Given the description of an element on the screen output the (x, y) to click on. 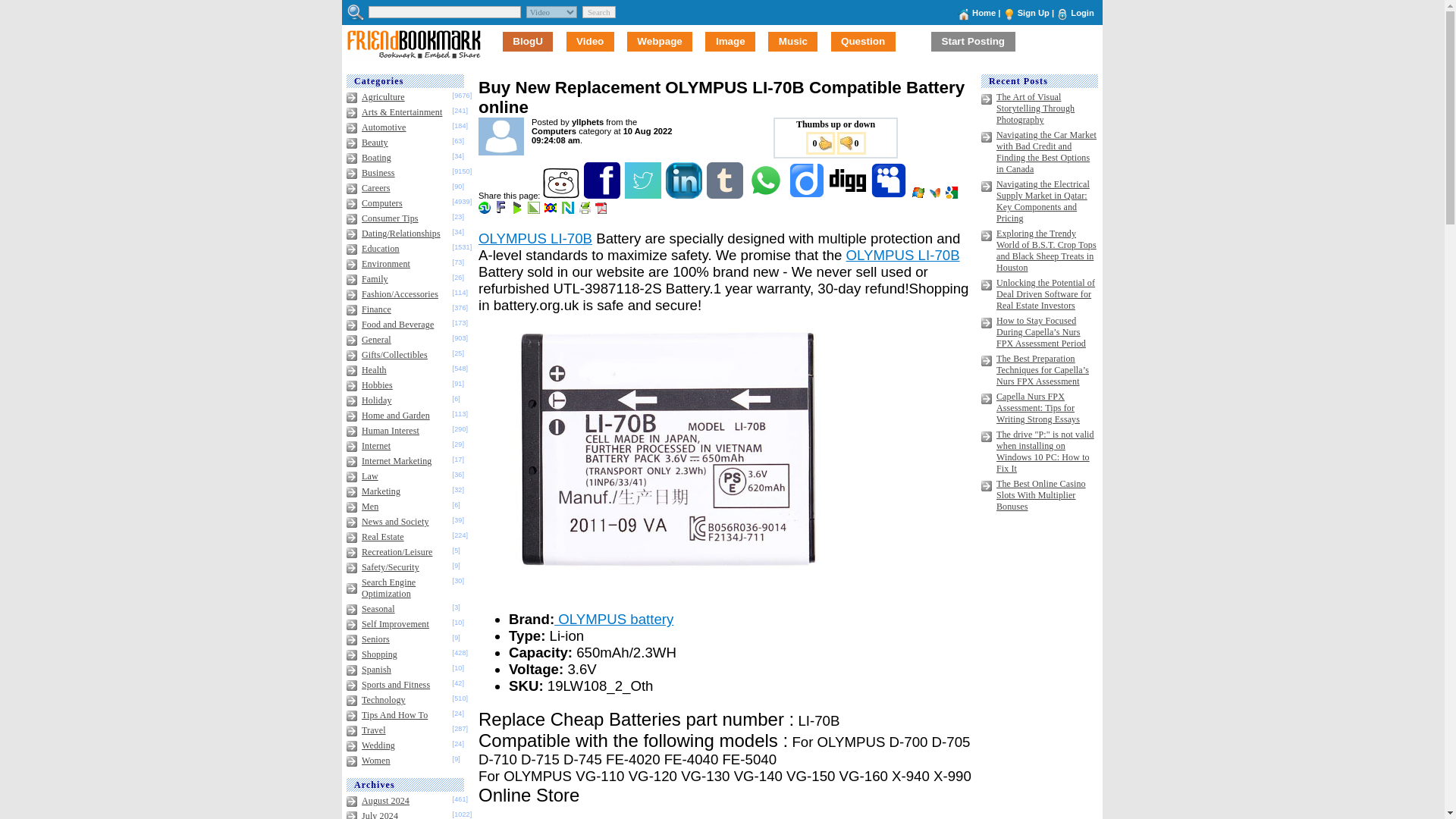
Search (598, 11)
LinkArena (534, 210)
Login (1081, 12)
Sign Up (1033, 12)
Thumbs up (819, 142)
StumbleUpon (486, 210)
Search (598, 11)
Twitter (643, 194)
Thumbs Down (851, 142)
MSNReporter (935, 194)
